Given the description of an element on the screen output the (x, y) to click on. 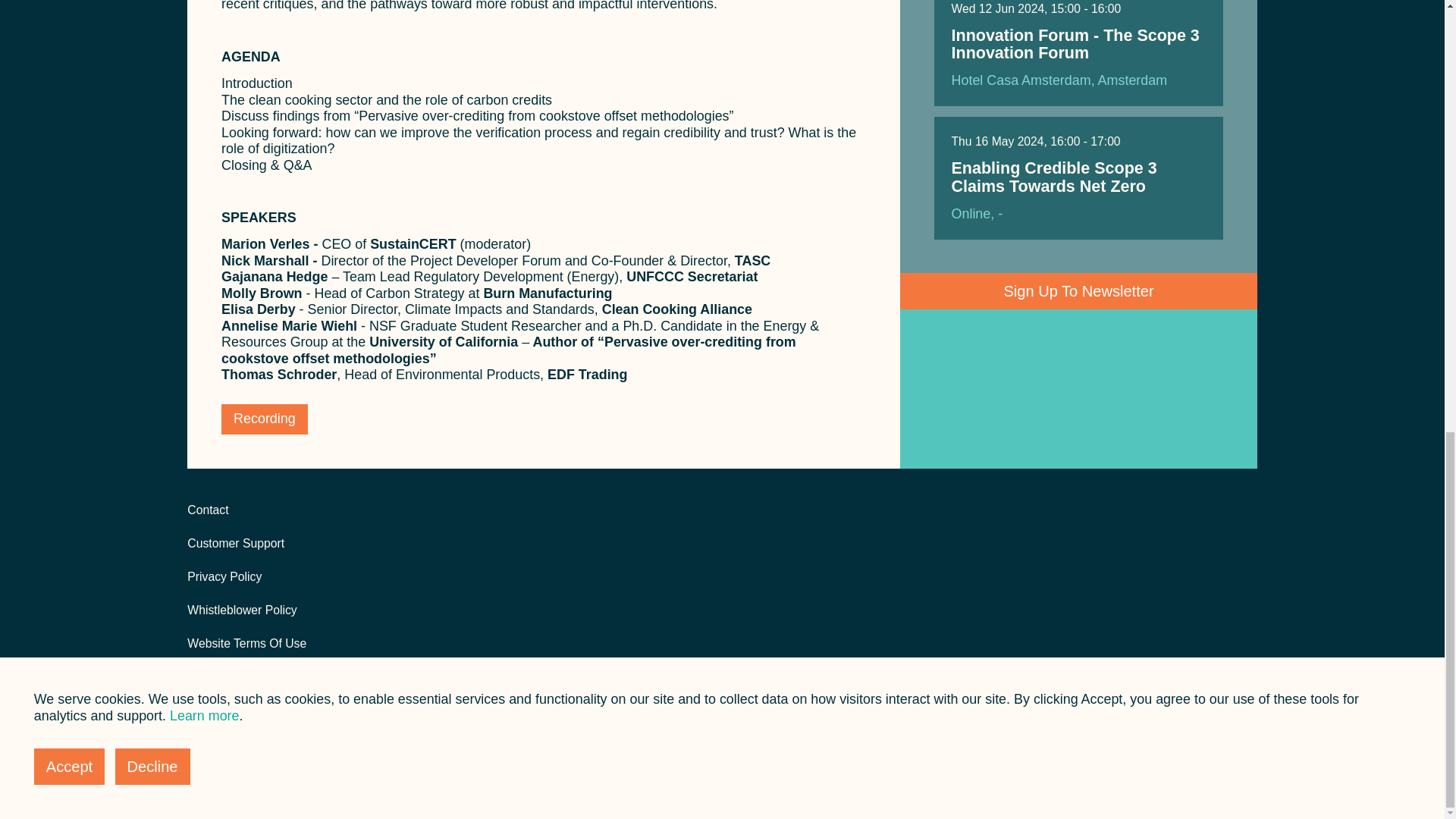
Follow us on LinkedIn (1220, 511)
Follow us on Twitter (1248, 511)
